Given the description of an element on the screen output the (x, y) to click on. 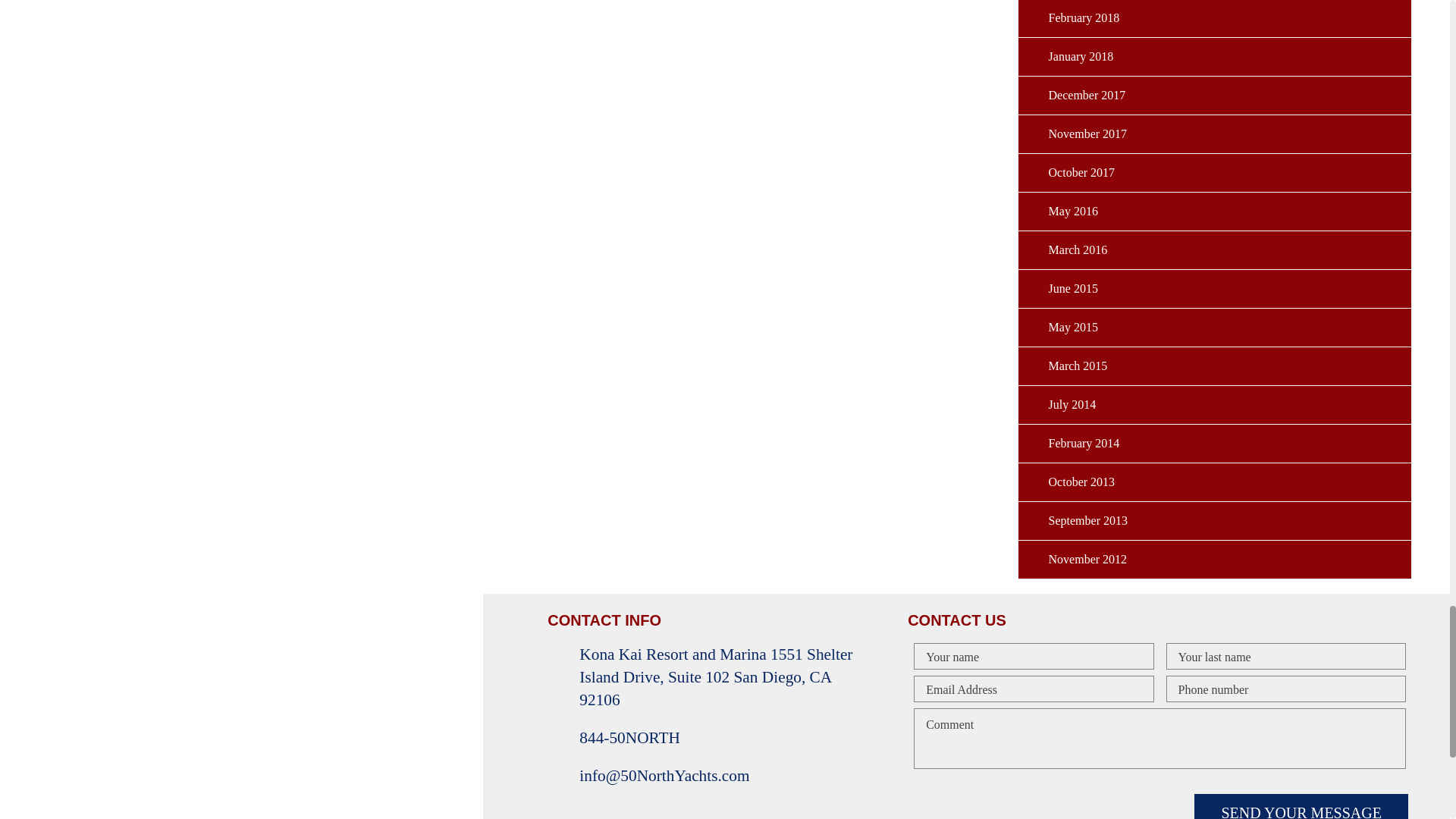
Send your message (1300, 806)
